Given the description of an element on the screen output the (x, y) to click on. 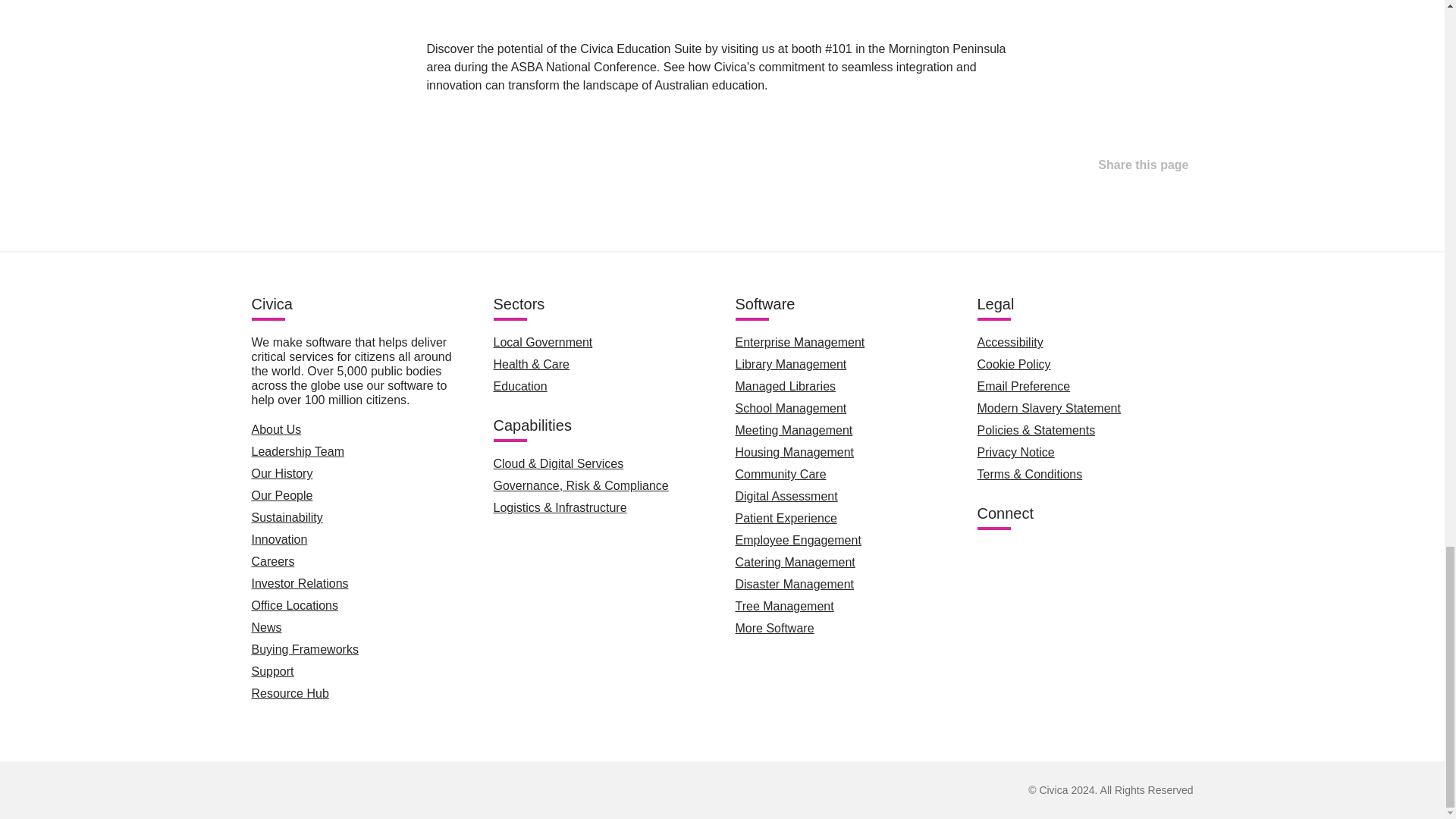
Support (272, 671)
Sustainability (287, 517)
Careers (273, 561)
Education (520, 386)
Our People (282, 495)
Local Government (542, 341)
Share this page (1128, 165)
Buying Frameworks (304, 649)
Our History (282, 472)
Leadership Team (297, 451)
